Given the description of an element on the screen output the (x, y) to click on. 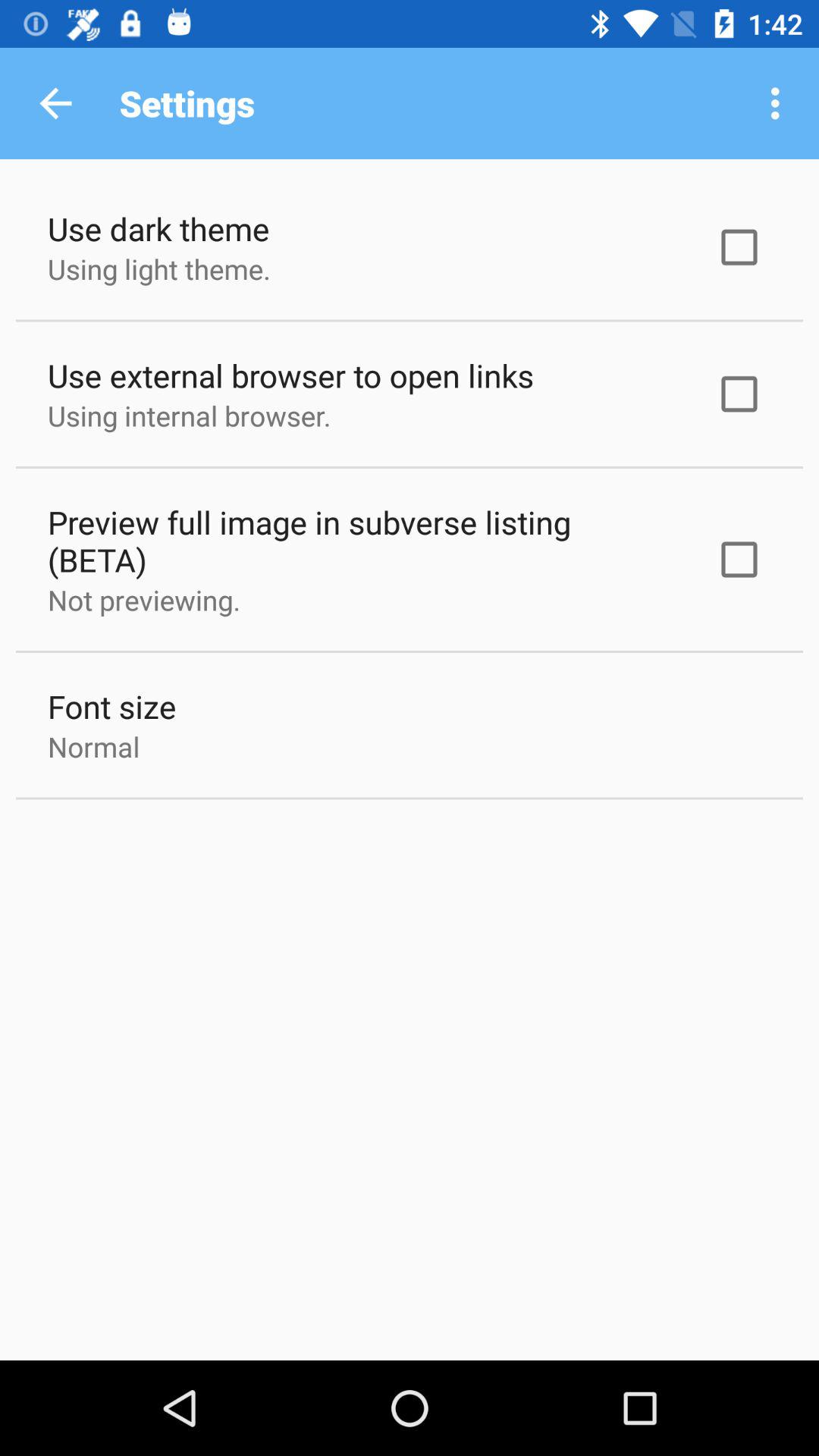
turn on the using light theme. item (158, 268)
